Given the description of an element on the screen output the (x, y) to click on. 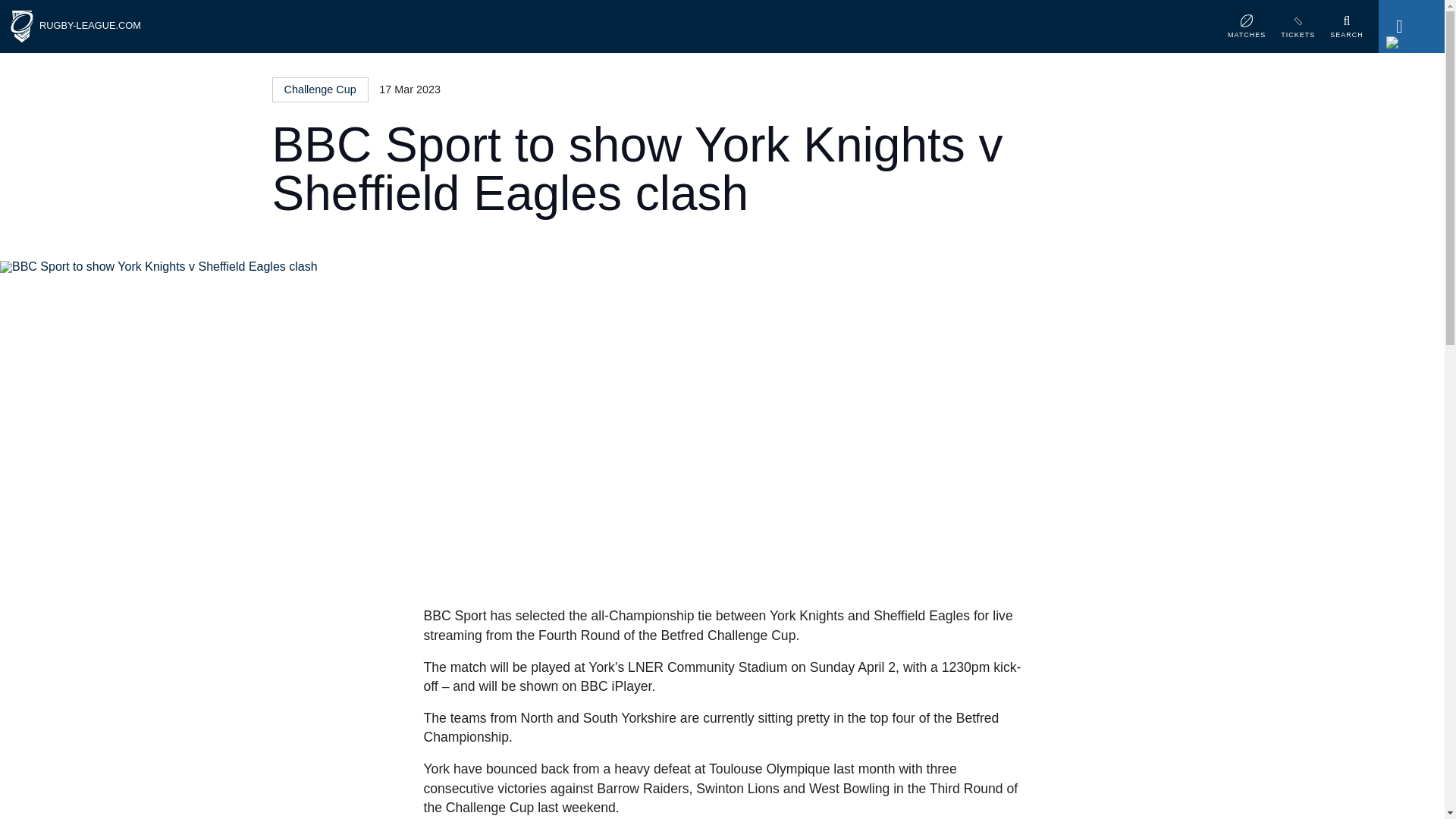
Home (90, 25)
RUGBY-LEAGUE.COM (90, 25)
Home (21, 26)
MATCHES (1246, 29)
SEARCH (1346, 29)
TICKETS (1297, 29)
Challenge Cup (319, 89)
